Given the description of an element on the screen output the (x, y) to click on. 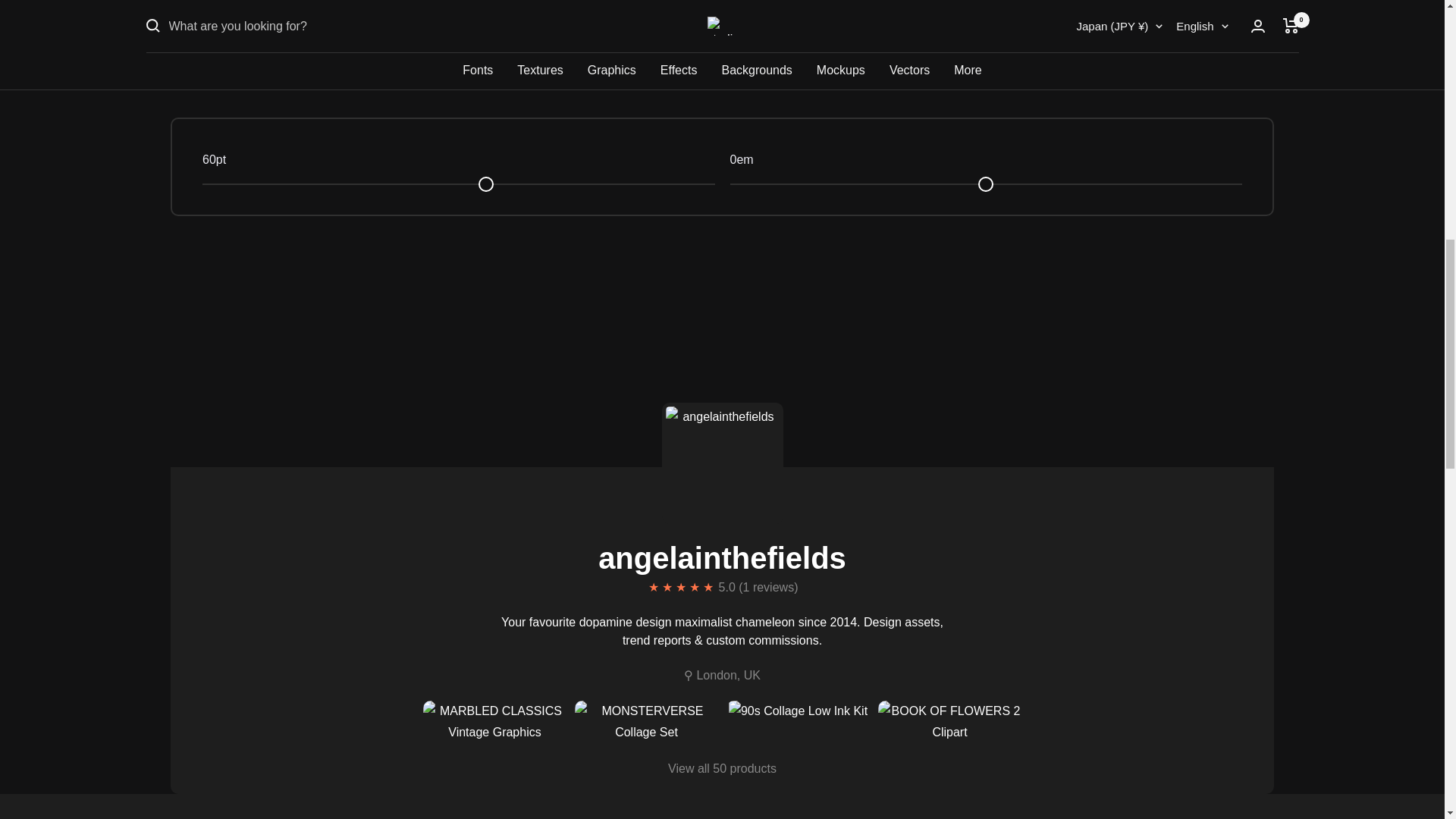
VG (1004, 89)
IO (1004, 63)
BW (1004, 11)
BR (1004, 36)
